Given the description of an element on the screen output the (x, y) to click on. 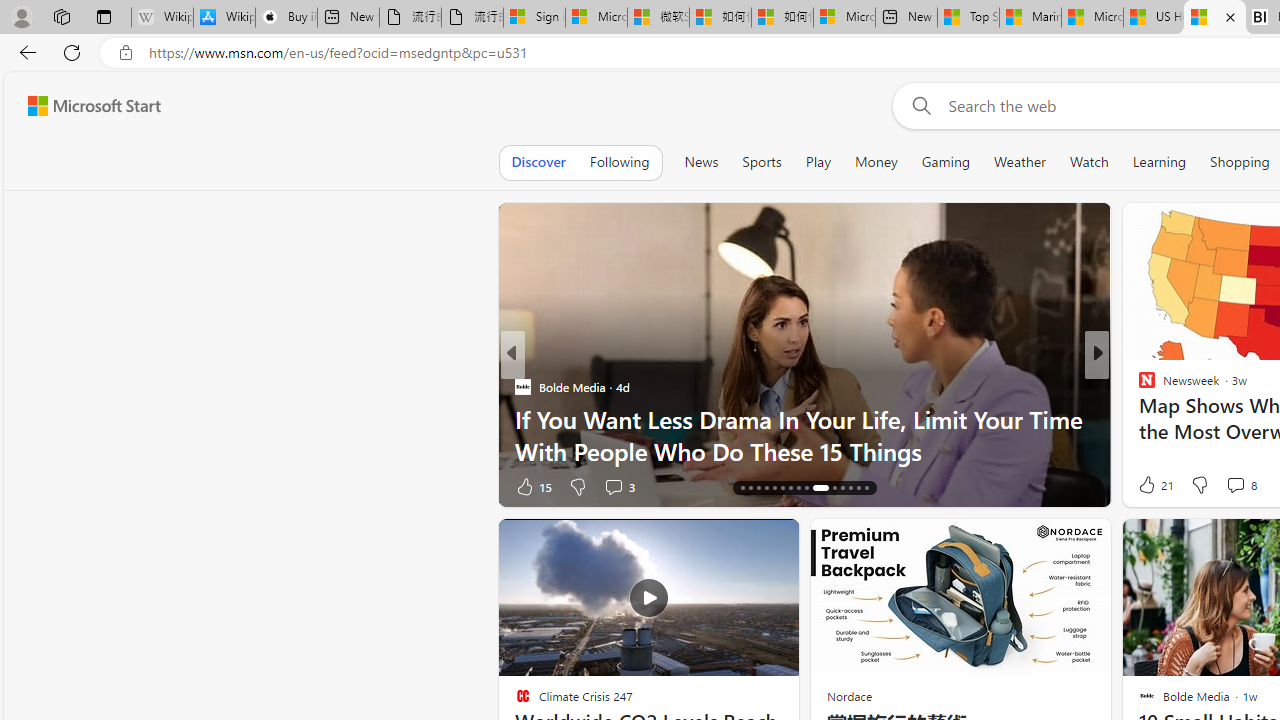
View comments 102 Comment (11, 485)
15 Like (532, 486)
Buy iPad - Apple (286, 17)
View comments 8 Comment (1240, 484)
AutomationID: tab-21 (782, 487)
View comments 3 Comment (618, 486)
SlashGear (1138, 418)
